Given the description of an element on the screen output the (x, y) to click on. 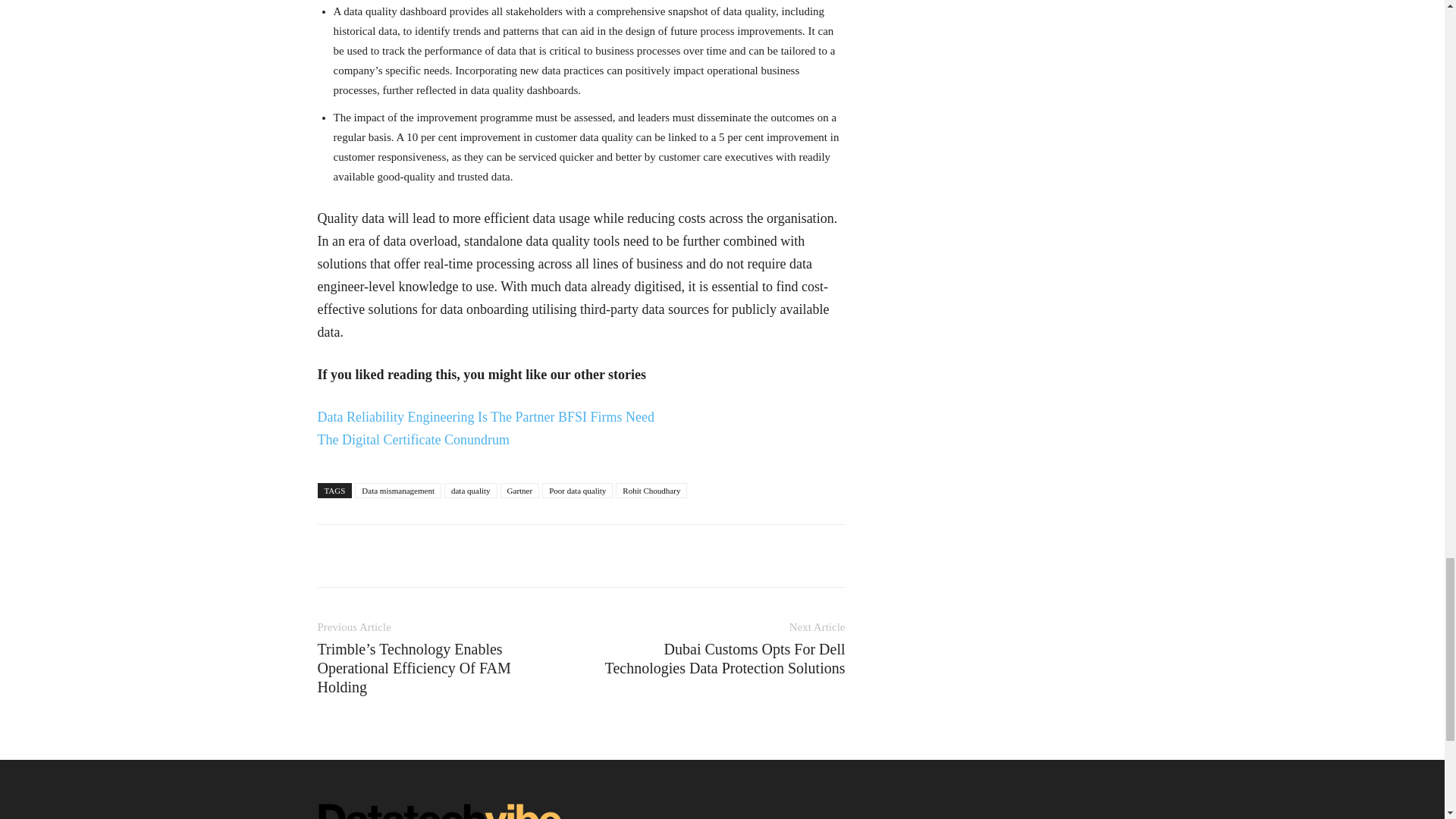
Data Reliability Engineering Is The Partner BFSI Firms Need (485, 417)
The Digital Certificate Conundrum (412, 439)
